Given the description of an element on the screen output the (x, y) to click on. 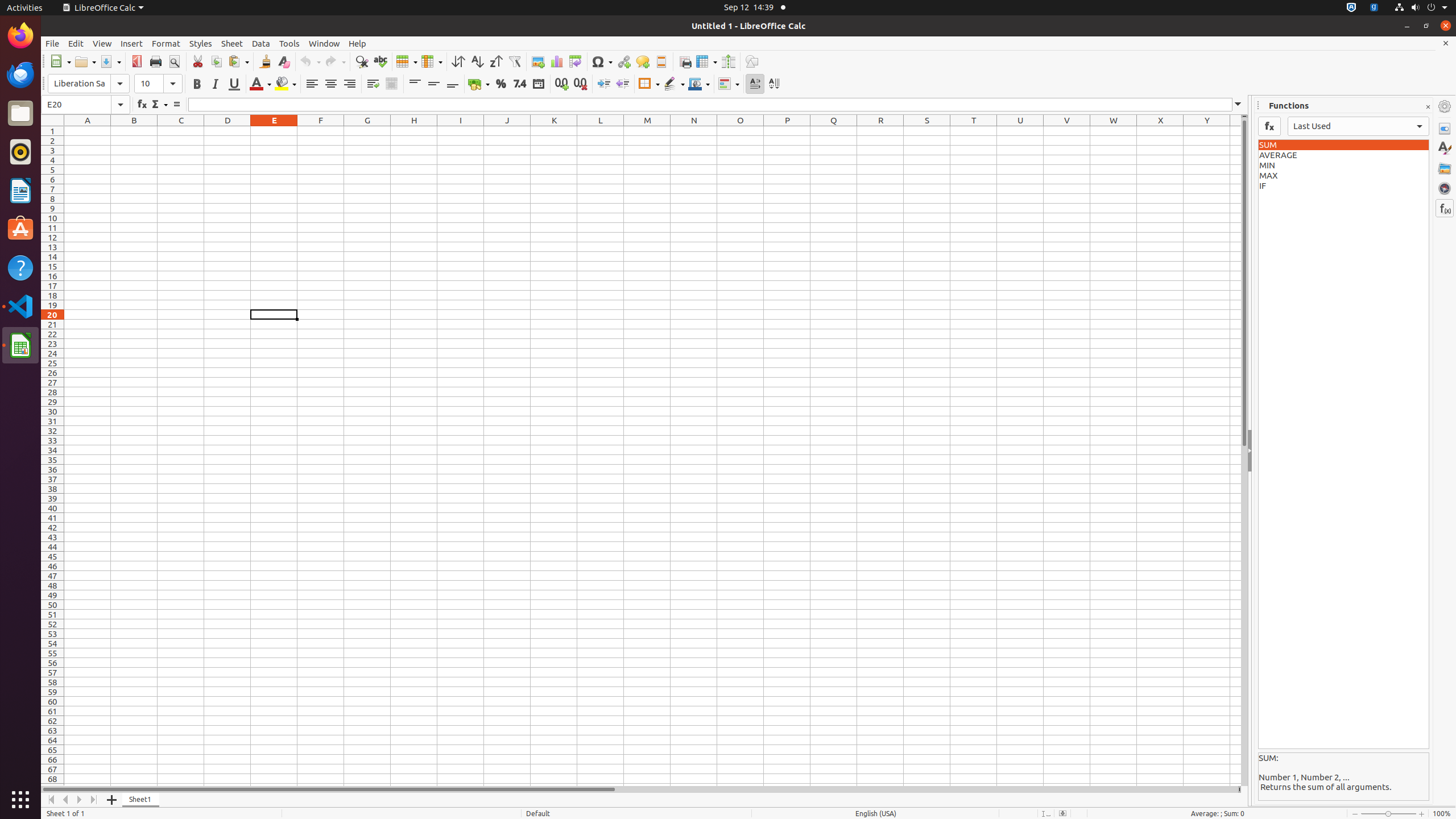
Properties Element type: radio-button (1444, 128)
Borders (Shift to overwrite) Element type: push-button (648, 83)
Sort Descending Element type: push-button (495, 61)
View Element type: menu (102, 43)
Currency Element type: push-button (478, 83)
